Given the description of an element on the screen output the (x, y) to click on. 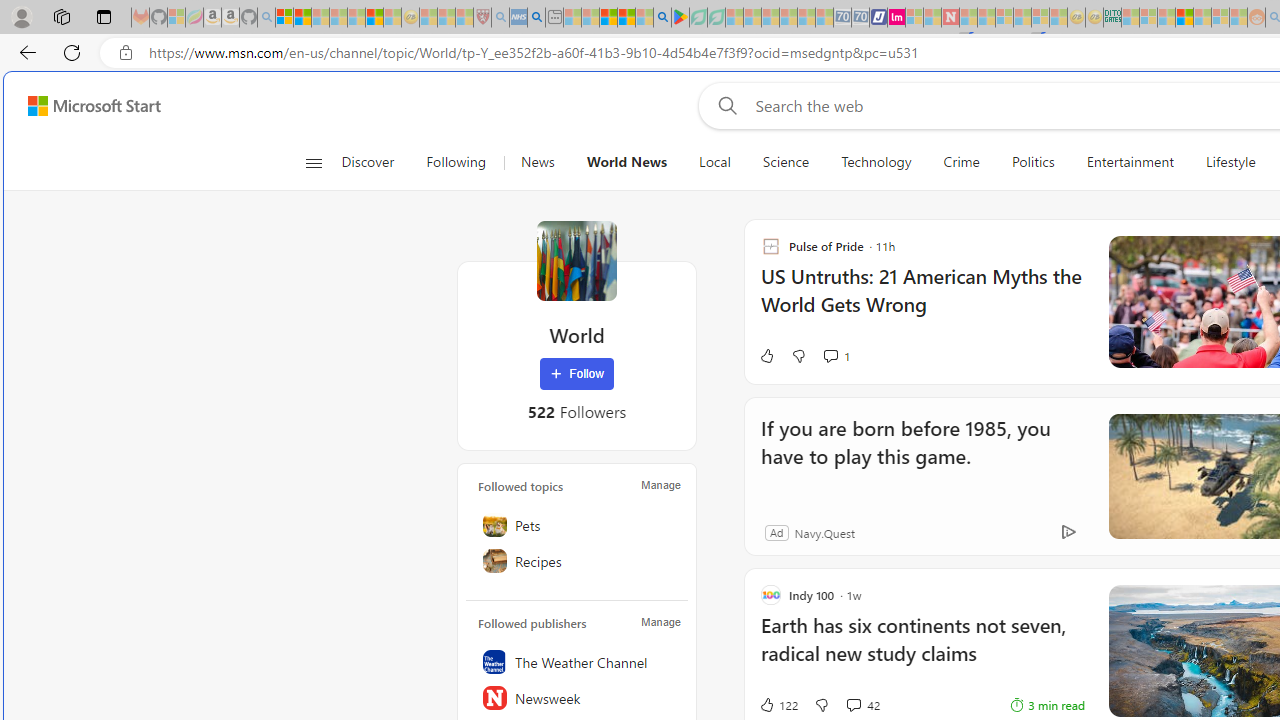
Jobs - lastminute.com Investor Portal (896, 17)
US Untruths: 21 American Myths the World Gets Wrong (922, 300)
